Given the description of an element on the screen output the (x, y) to click on. 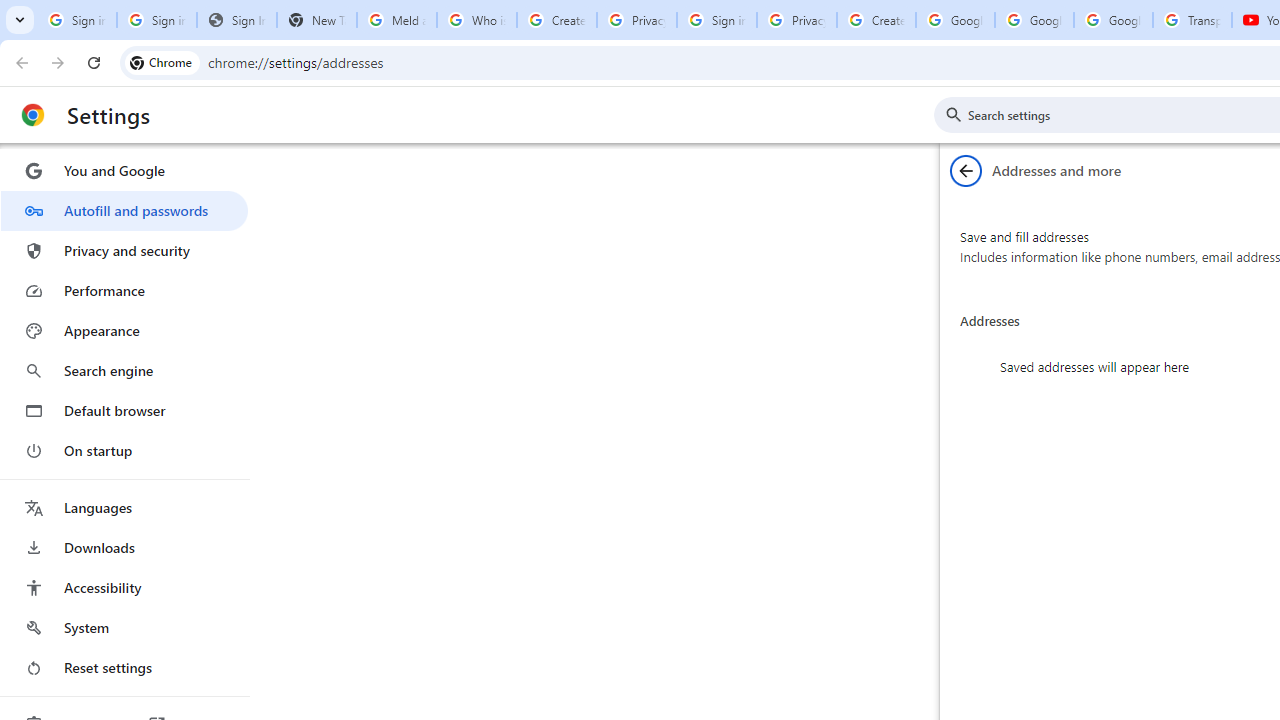
Start Mail Merge (328, 161)
Undo Apply Quick Style Set (290, 31)
Rules (1037, 126)
Insert Merge Field (927, 161)
